Given the description of an element on the screen output the (x, y) to click on. 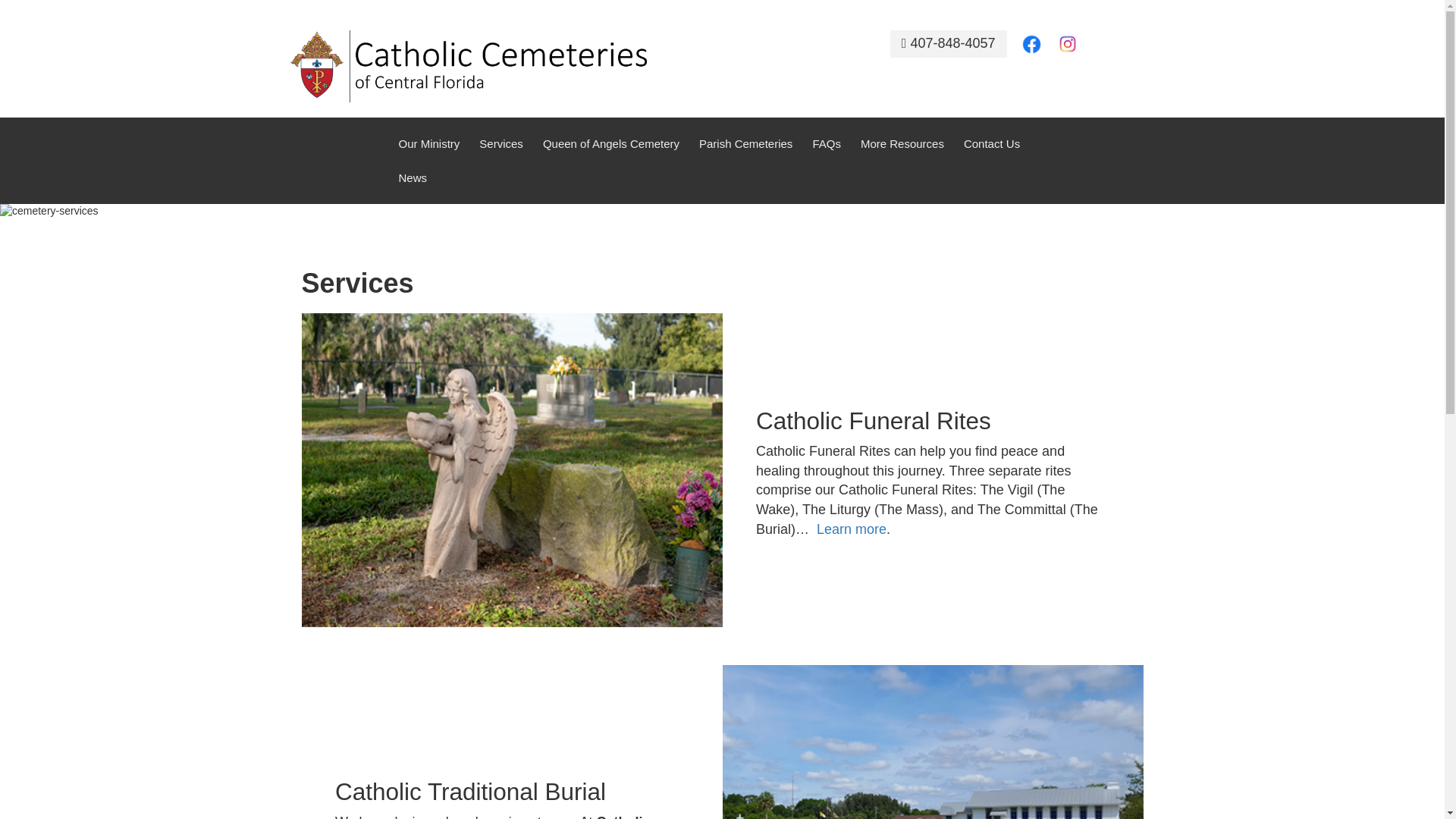
Our Ministry (429, 143)
News (413, 177)
FAQs (826, 143)
Learn more (851, 529)
Queen of Angels Cemetery (611, 143)
Parish Cemeteries (745, 143)
Skip to content (34, 22)
More Resources (901, 143)
Catholic Cemeteries of Central Florida (467, 64)
Skip to main menu (43, 22)
Contact Us (991, 143)
Services (500, 143)
